Given the description of an element on the screen output the (x, y) to click on. 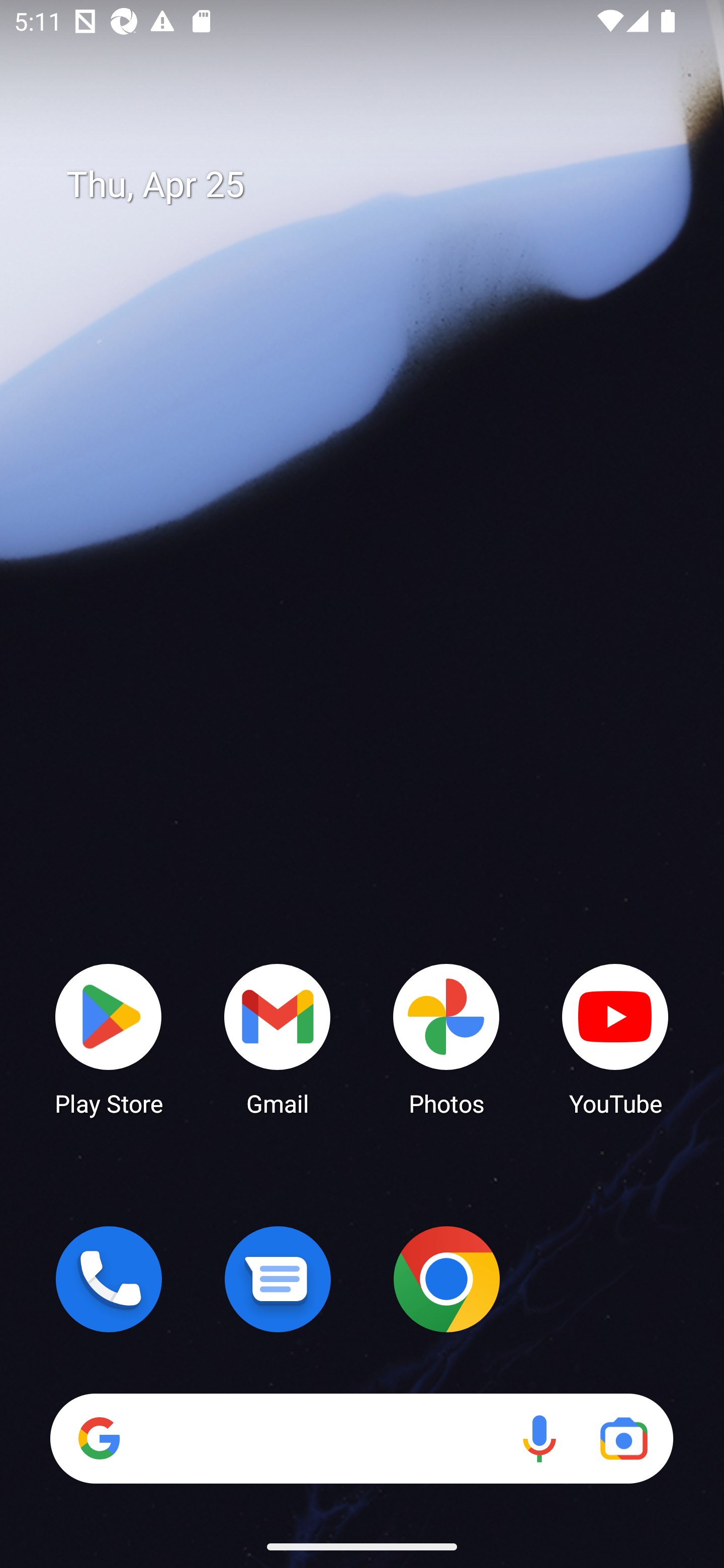
Thu, Apr 25 (375, 184)
Play Store (108, 1038)
Gmail (277, 1038)
Photos (445, 1038)
YouTube (615, 1038)
Phone (108, 1279)
Messages (277, 1279)
Chrome (446, 1279)
Search Voice search Google Lens (361, 1438)
Voice search (539, 1438)
Google Lens (623, 1438)
